Given the description of an element on the screen output the (x, y) to click on. 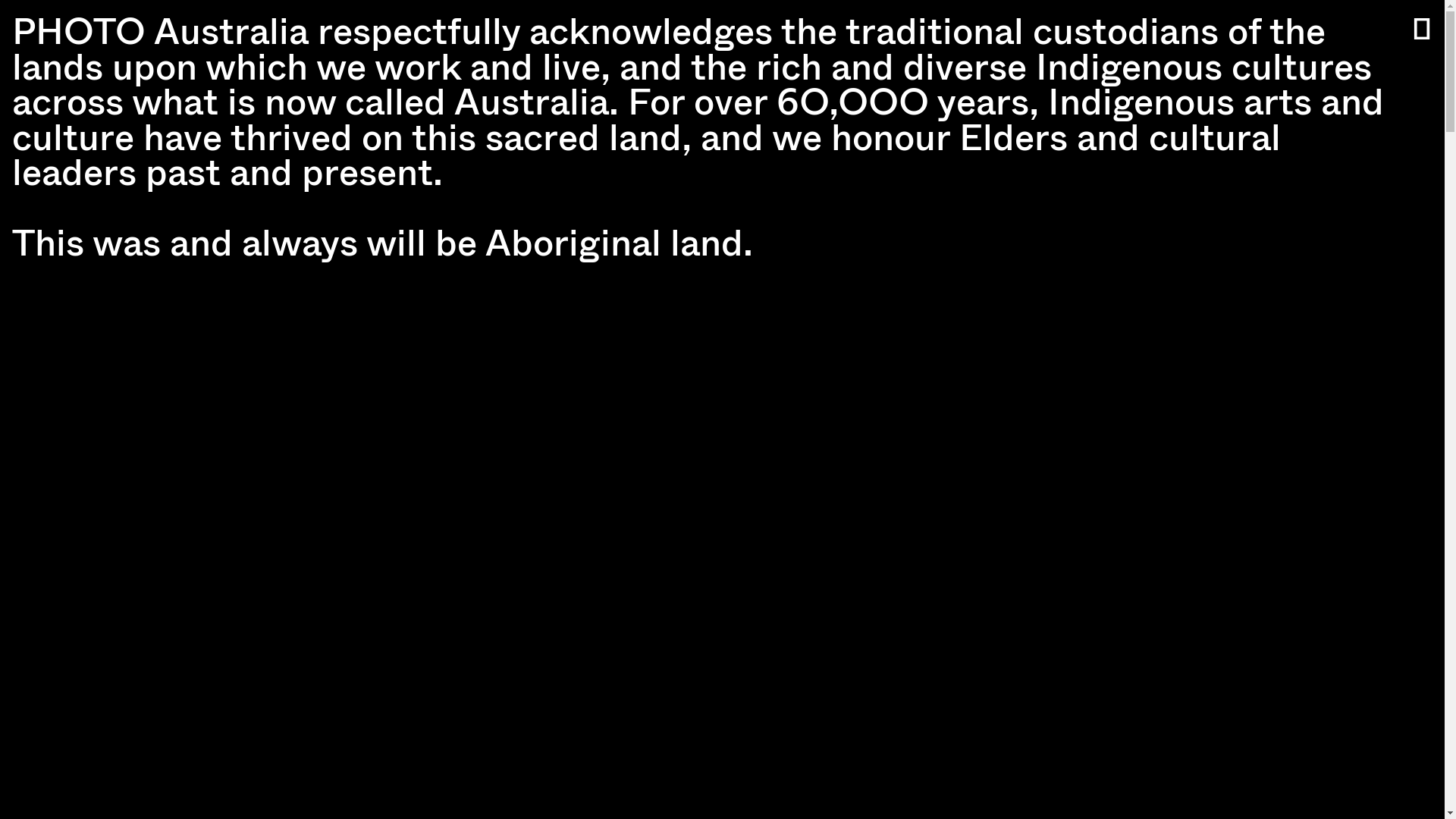
Mous_Extended_v2 Element type: hover (722, 368)
